Given the description of an element on the screen output the (x, y) to click on. 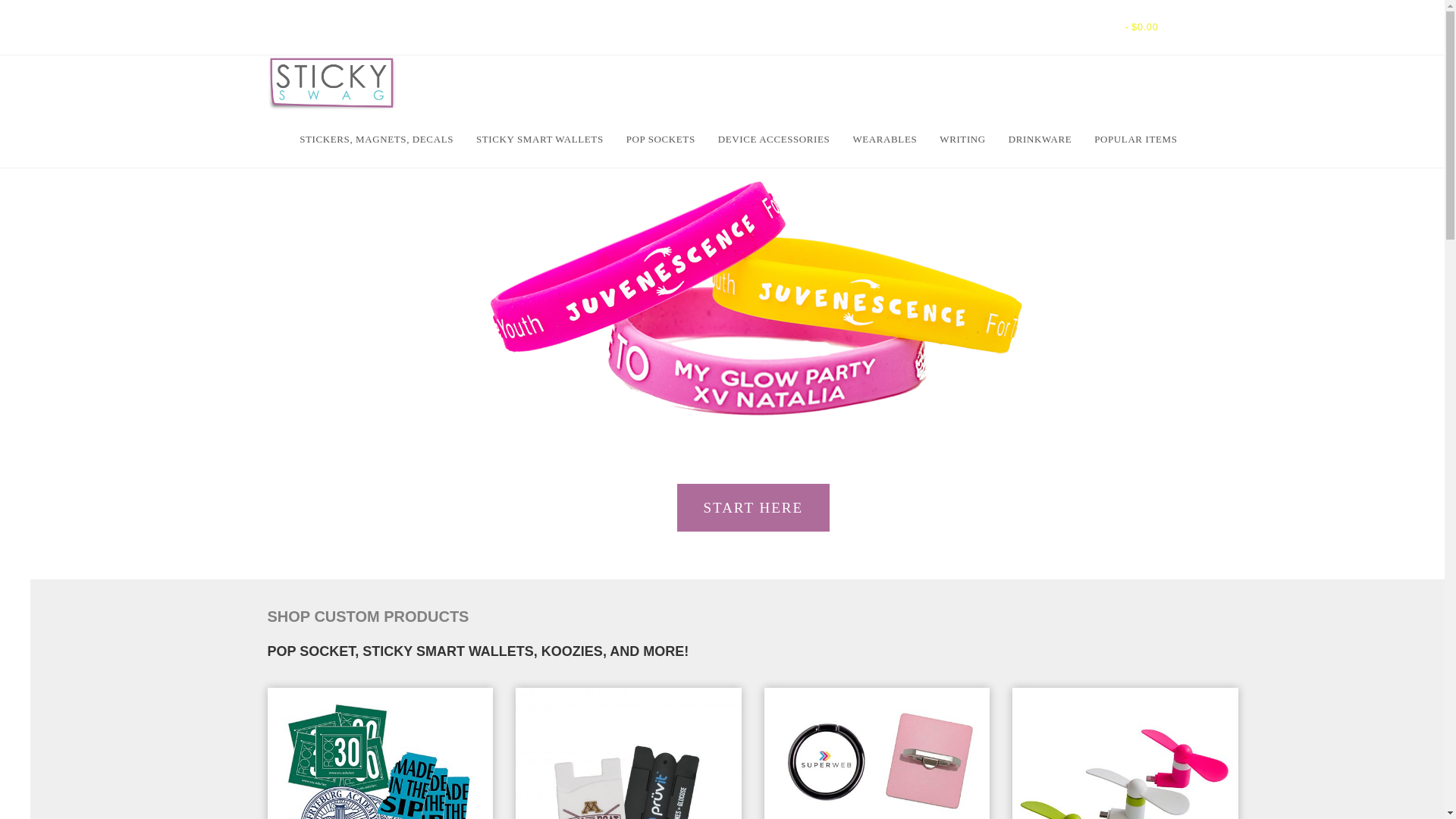
CONTACT US (320, 26)
DRINKWARE (1040, 139)
popsockets (877, 753)
magnets (379, 753)
WRITING (962, 139)
Start shopping (1113, 26)
POPULAR ITEMS (1135, 139)
REQUEST A QUOTE (429, 26)
DEVICE ACCESSORIES (773, 139)
POP SOCKETS (660, 139)
STICKERS, MAGNETS, DECALS (376, 139)
STICKY SMART WALLETS (539, 139)
WEARABLES (884, 139)
2Front image (628, 753)
HELP (518, 26)
